Given the description of an element on the screen output the (x, y) to click on. 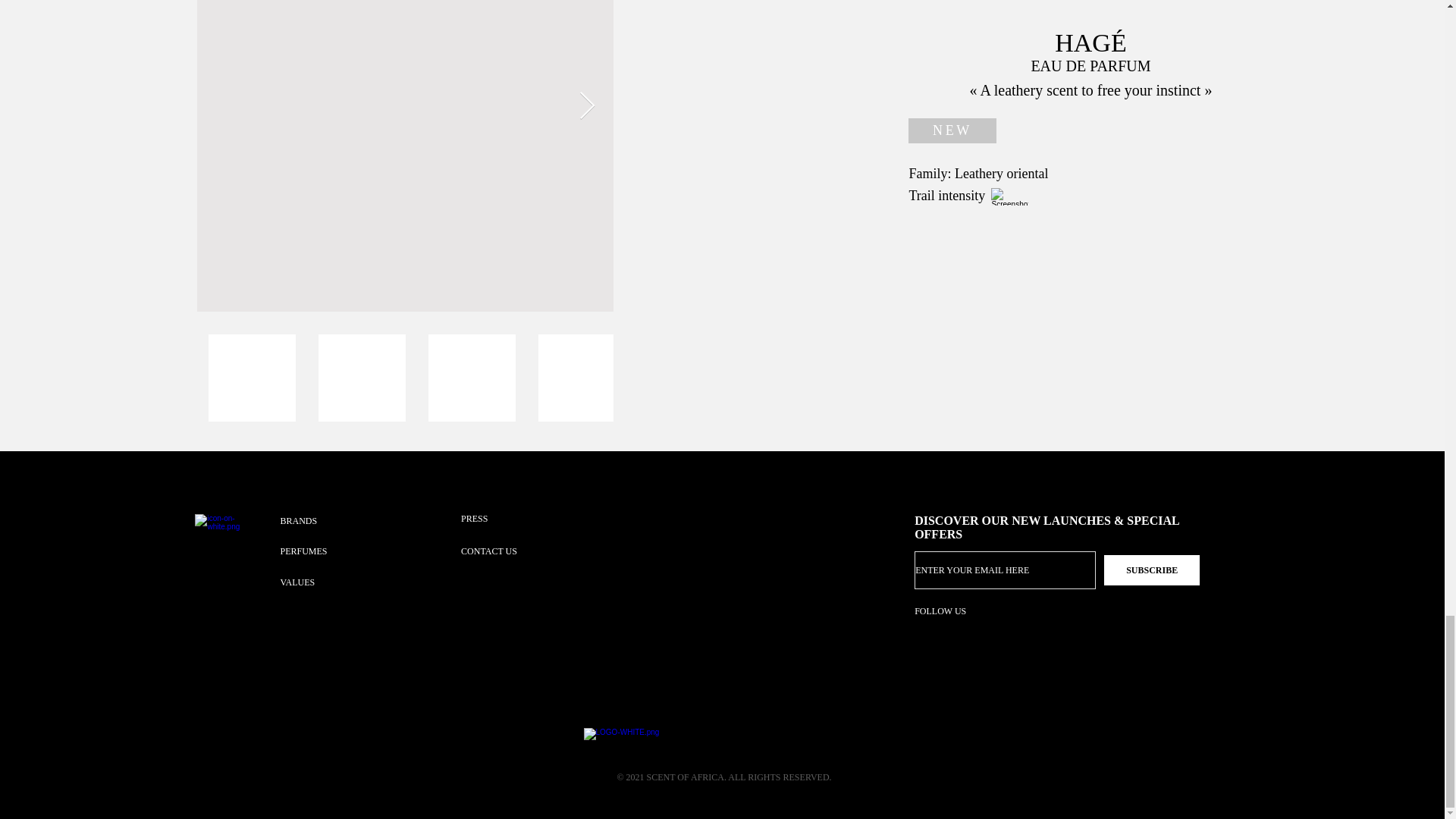
PERFUMES (323, 551)
CONTACT US (515, 551)
SUBSCRIBE (1151, 570)
BRANDS (323, 521)
PRESS (505, 518)
VALUES (323, 582)
